Given the description of an element on the screen output the (x, y) to click on. 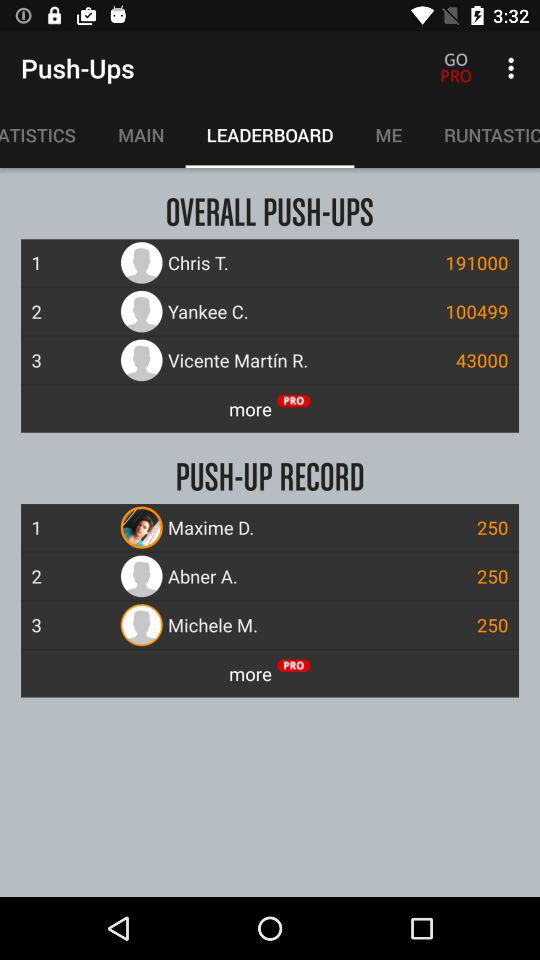
open the runtastic apps (481, 135)
